Given the description of an element on the screen output the (x, y) to click on. 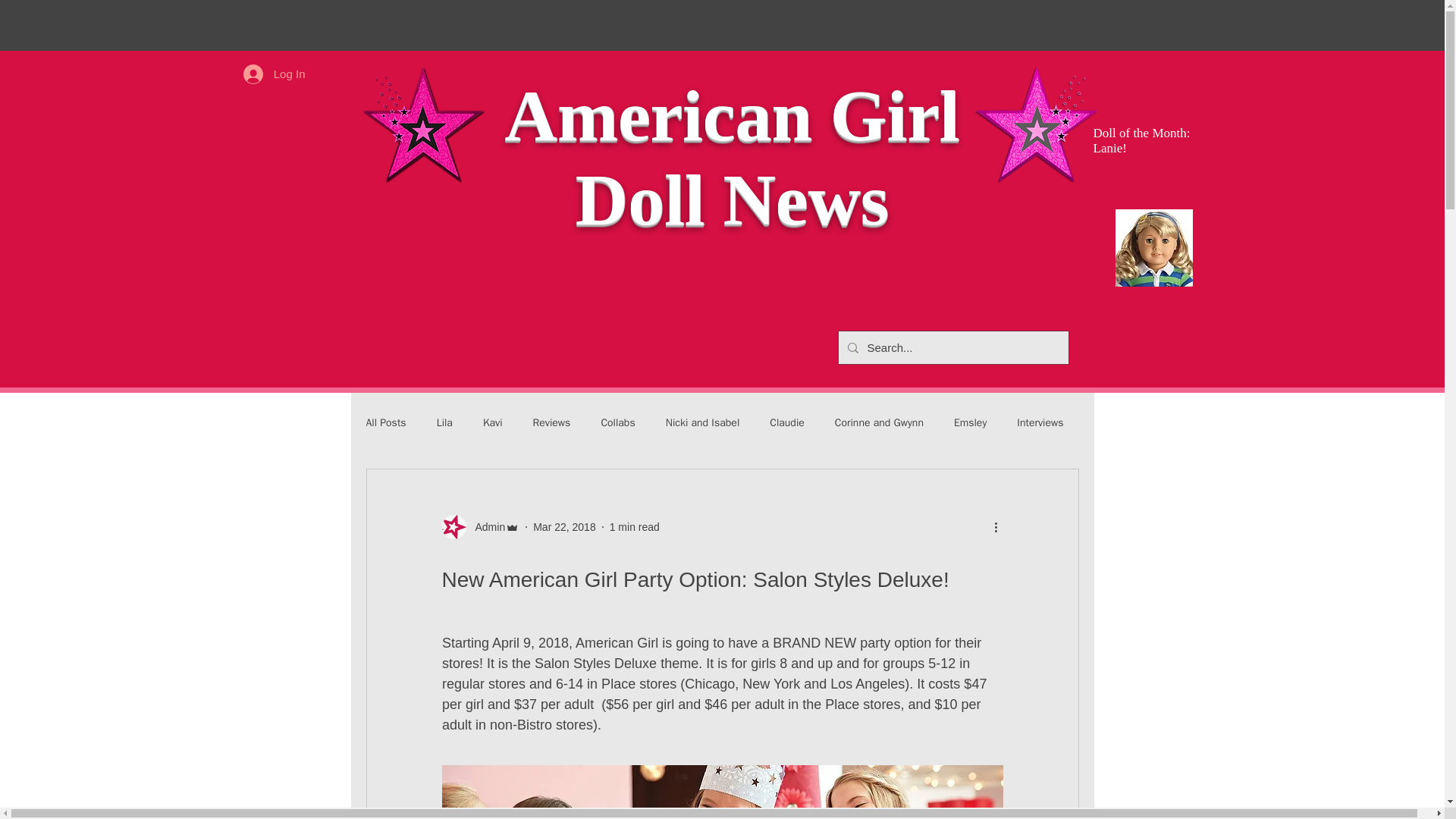
Log In (273, 72)
star.png (422, 127)
Admin (485, 526)
Collabs (616, 422)
Claudie (787, 422)
Emsley (970, 422)
Interviews (1039, 422)
All Posts (385, 422)
1 min read (634, 526)
Corinne and Gwynn (878, 422)
